Given the description of an element on the screen output the (x, y) to click on. 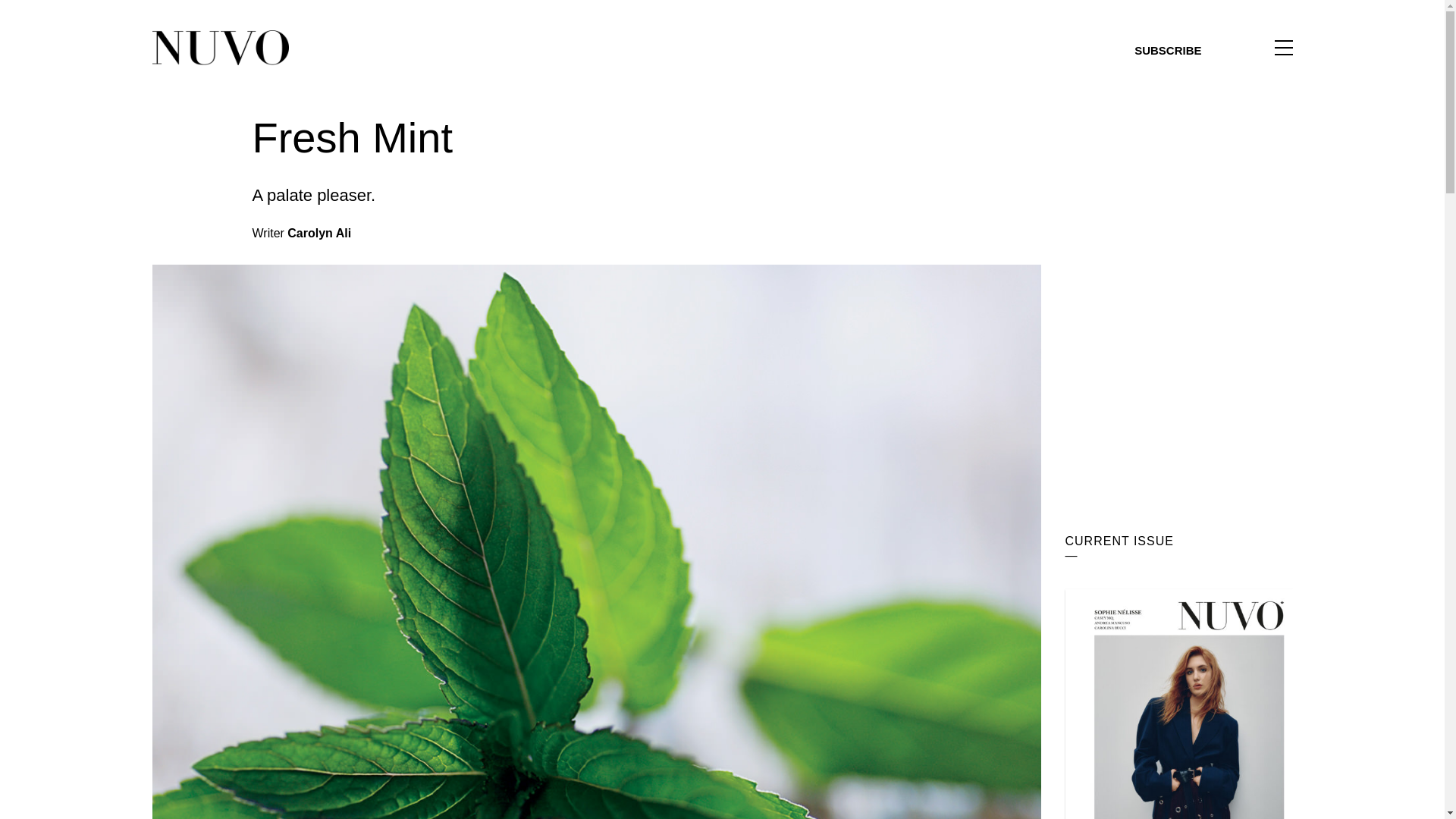
SUBSCRIBE (1167, 50)
3rd party ad content (1178, 416)
View all posts by Carolyn Ali (318, 232)
3rd party ad content (1178, 208)
